Given the description of an element on the screen output the (x, y) to click on. 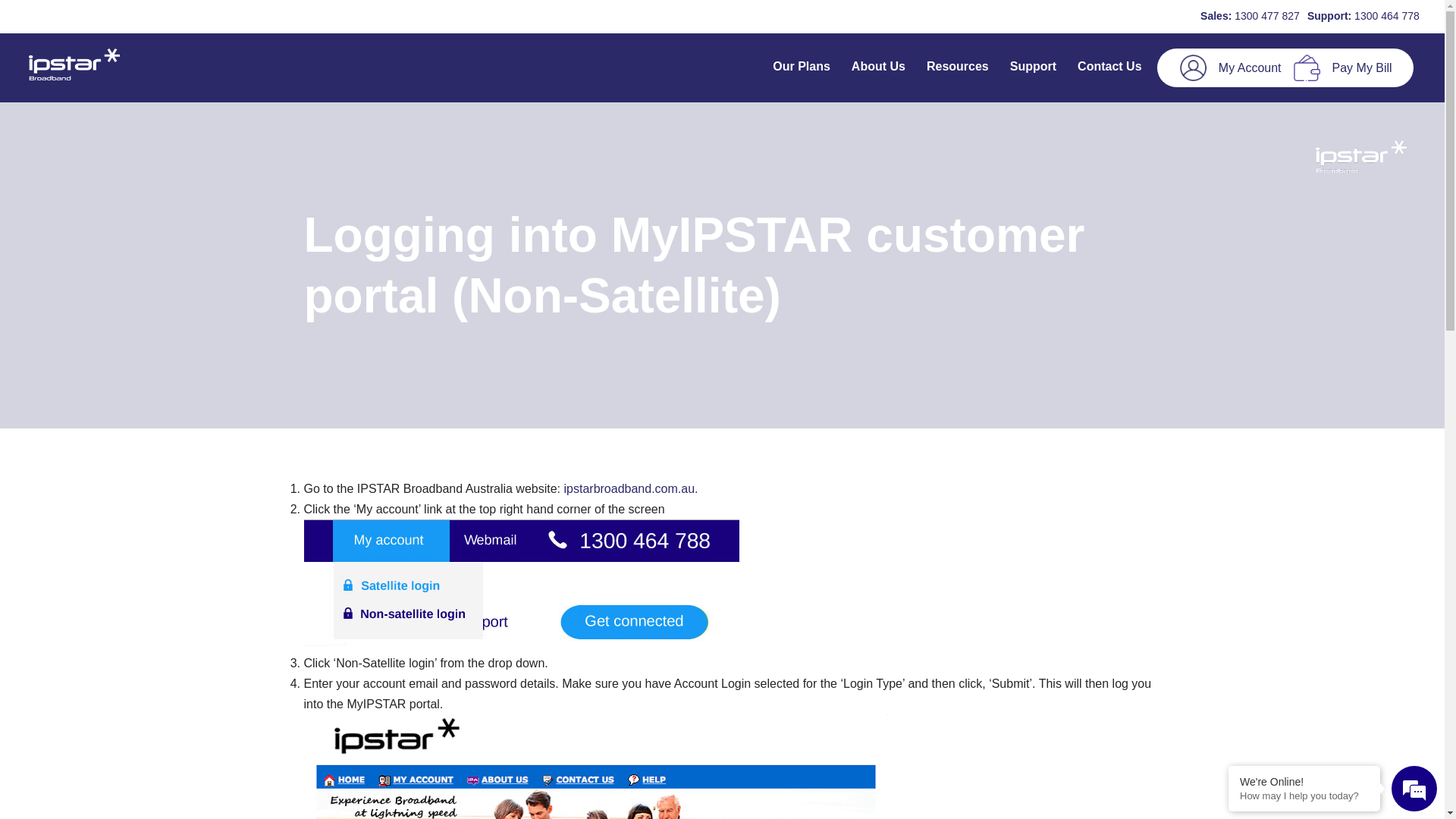
ipstarbroadband.com.au. Element type: text (631, 488)
Our Plans Element type: text (801, 67)
My Account Element type: text (1249, 67)
Contact Us Element type: text (1109, 67)
1300 464 778 Element type: text (1386, 15)
Resources Element type: text (957, 67)
1300 477 827 Element type: text (1266, 15)
Pay My Bill Element type: text (1362, 67)
About Us Element type: text (878, 67)
Support Element type: text (1032, 67)
